Given the description of an element on the screen output the (x, y) to click on. 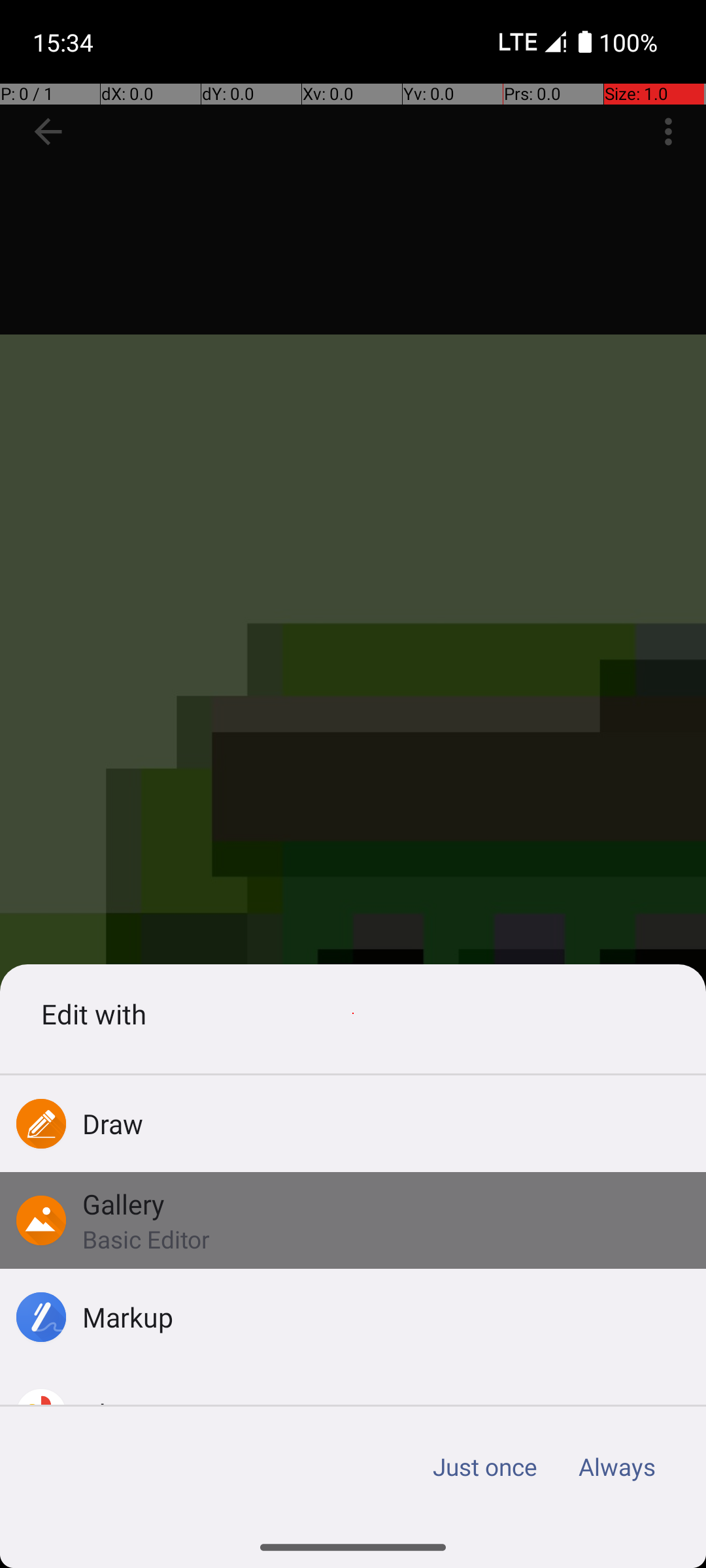
Edit with Element type: android.widget.TextView (352, 1013)
Draw Element type: android.widget.TextView (112, 1123)
Basic Editor Element type: android.widget.TextView (146, 1238)
Markup Element type: android.widget.TextView (127, 1316)
